Given the description of an element on the screen output the (x, y) to click on. 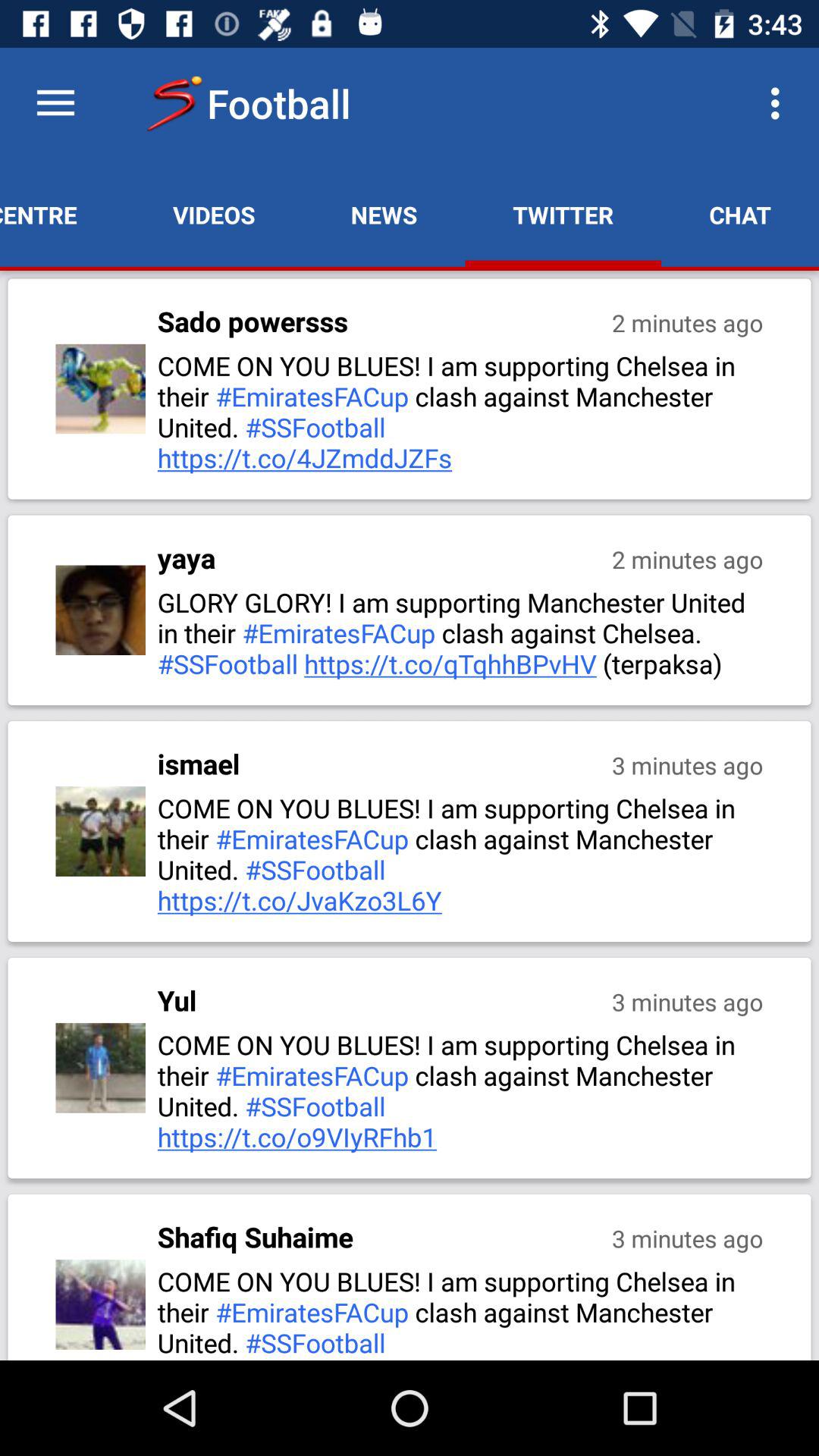
open menu (55, 103)
